Given the description of an element on the screen output the (x, y) to click on. 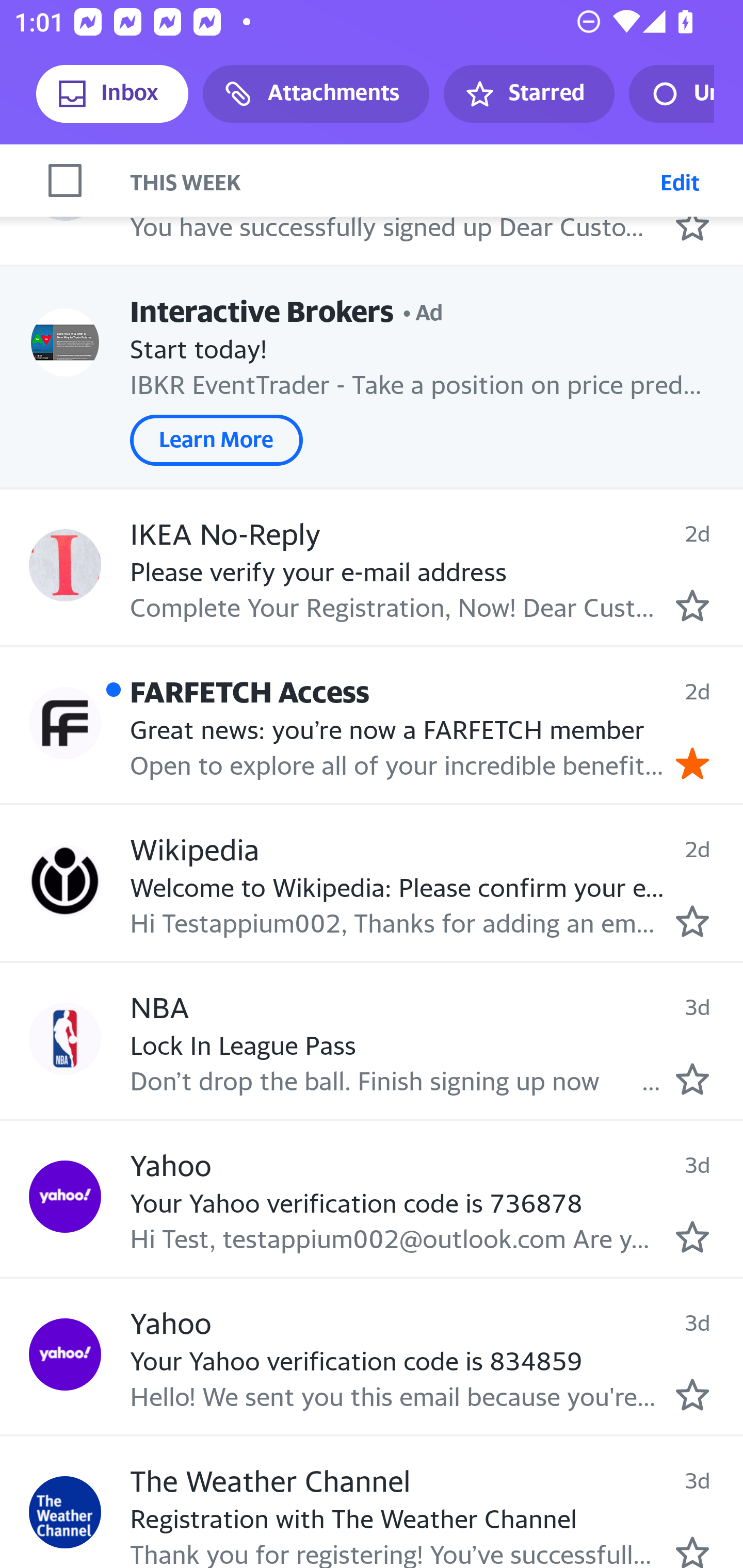
Attachments (315, 93)
Starred (528, 93)
Profile
IKEA Hong Kong (64, 184)
Mark as starred. (692, 224)
Profile
IKEA No-Reply (64, 565)
Mark as starred. (692, 606)
Profile
FARFETCH Access (64, 722)
Remove star. (692, 762)
Profile
Wikipedia (64, 881)
Mark as starred. (692, 921)
Profile
NBA (64, 1038)
Mark as starred. (692, 1079)
Profile
Yahoo (64, 1196)
Mark as starred. (692, 1236)
Profile
Yahoo (64, 1354)
Mark as starred. (692, 1394)
Profile
The Weather Channel (64, 1512)
Mark as starred. (692, 1551)
